Given the description of an element on the screen output the (x, y) to click on. 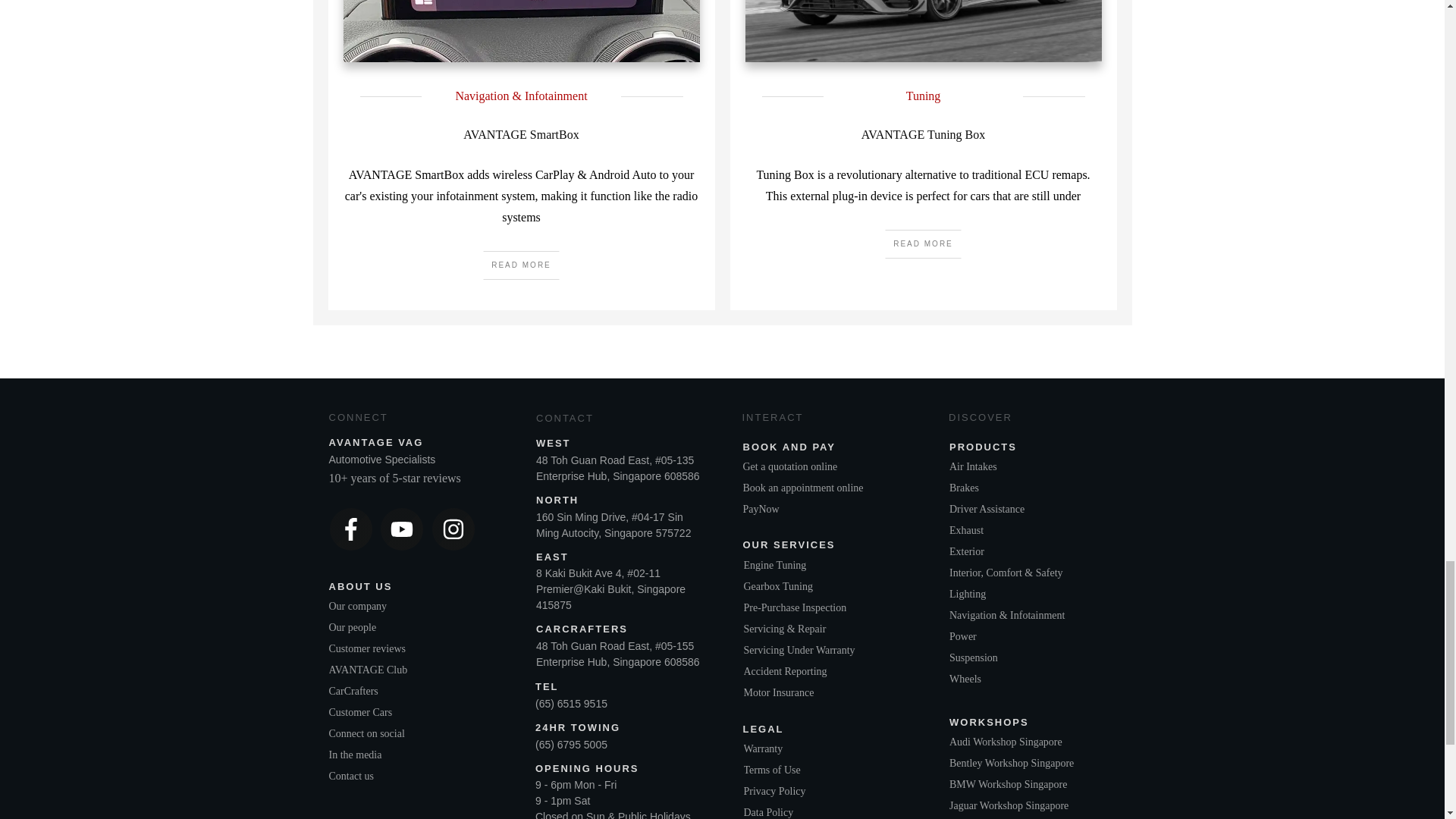
AVANTAGE SmartBox (520, 133)
Tuning (922, 95)
AVANTAGE Tuning Box (923, 133)
